Given the description of an element on the screen output the (x, y) to click on. 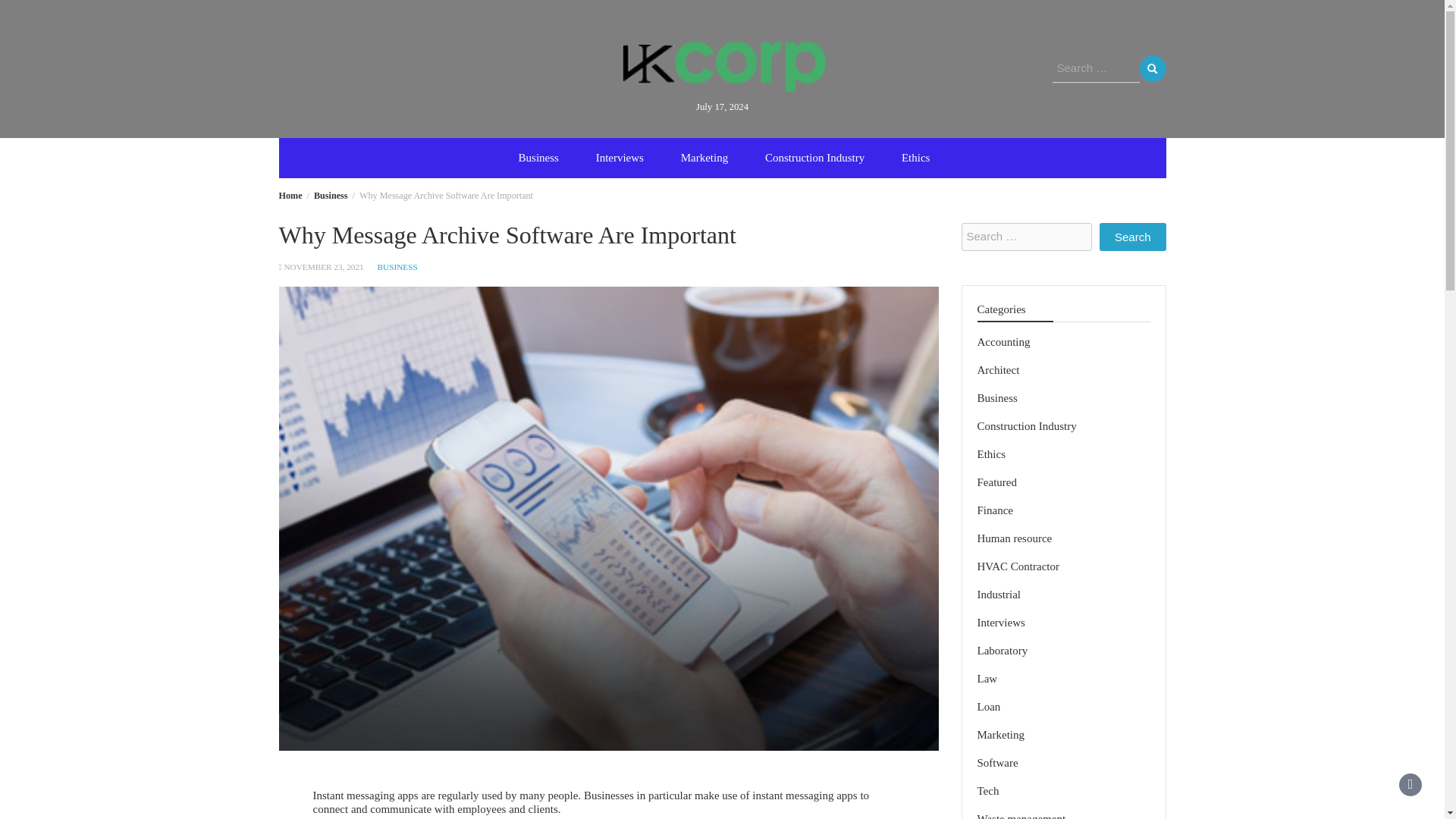
Interviews (619, 158)
Ethics (991, 453)
Construction Industry (1025, 426)
Search for: (1026, 236)
BUSINESS (397, 266)
Construction Industry (814, 158)
Featured (996, 481)
Search (1152, 68)
Business (996, 398)
Home (290, 195)
Accounting (1002, 341)
Ethics (915, 158)
Search (1132, 236)
Business (330, 195)
Search (1132, 236)
